Given the description of an element on the screen output the (x, y) to click on. 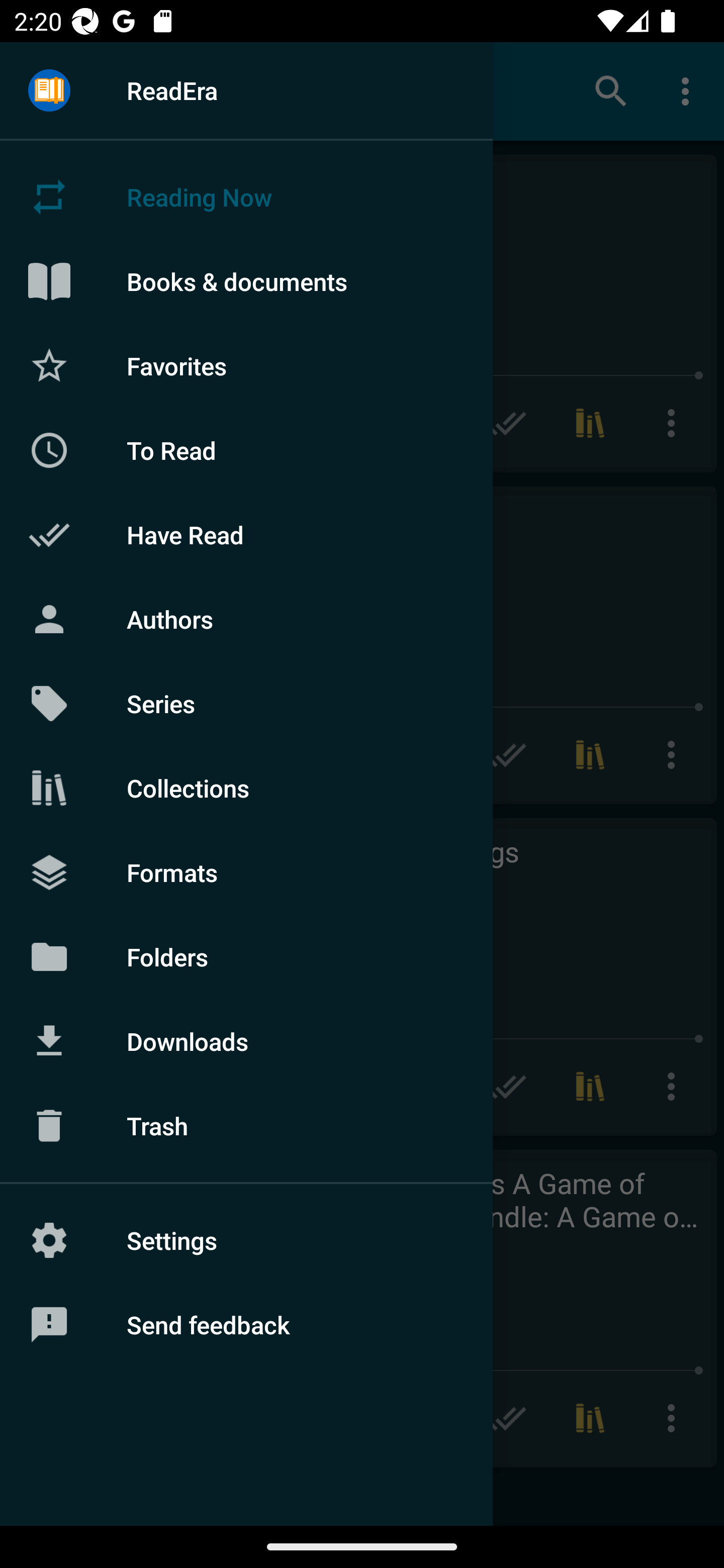
Menu (49, 91)
ReadEra (246, 89)
Search books & documents (611, 90)
More options (688, 90)
Reading Now (246, 197)
Books & documents (246, 281)
Favorites (246, 365)
To Read (246, 449)
Have Read (246, 534)
Authors (246, 619)
Series (246, 703)
Collections (246, 787)
Formats (246, 871)
Folders (246, 956)
Downloads (246, 1040)
Trash (246, 1125)
Settings (246, 1239)
Send feedback (246, 1324)
